Given the description of an element on the screen output the (x, y) to click on. 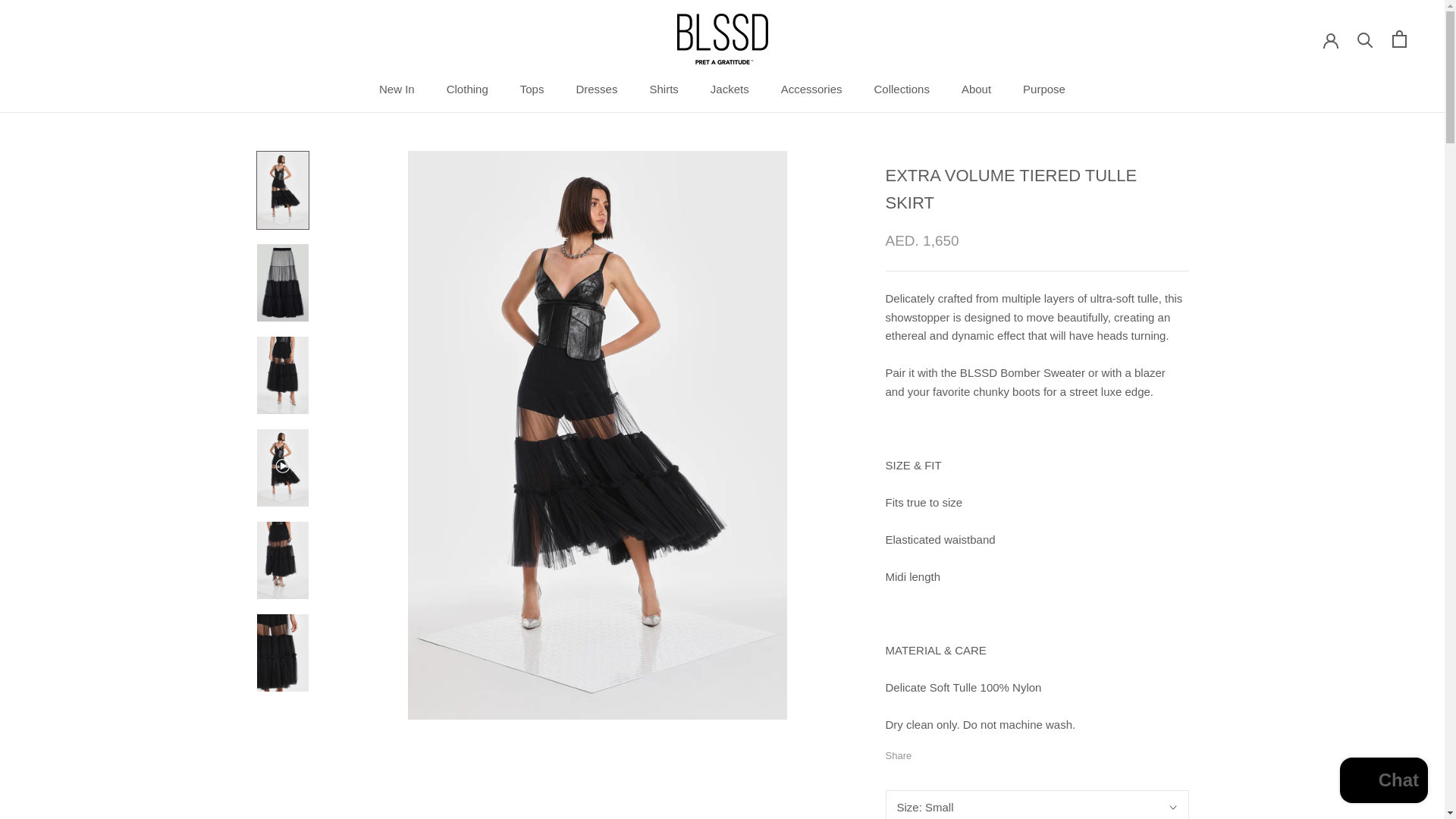
Clothing (466, 88)
Shopify online store chat (1383, 781)
